Given the description of an element on the screen output the (x, y) to click on. 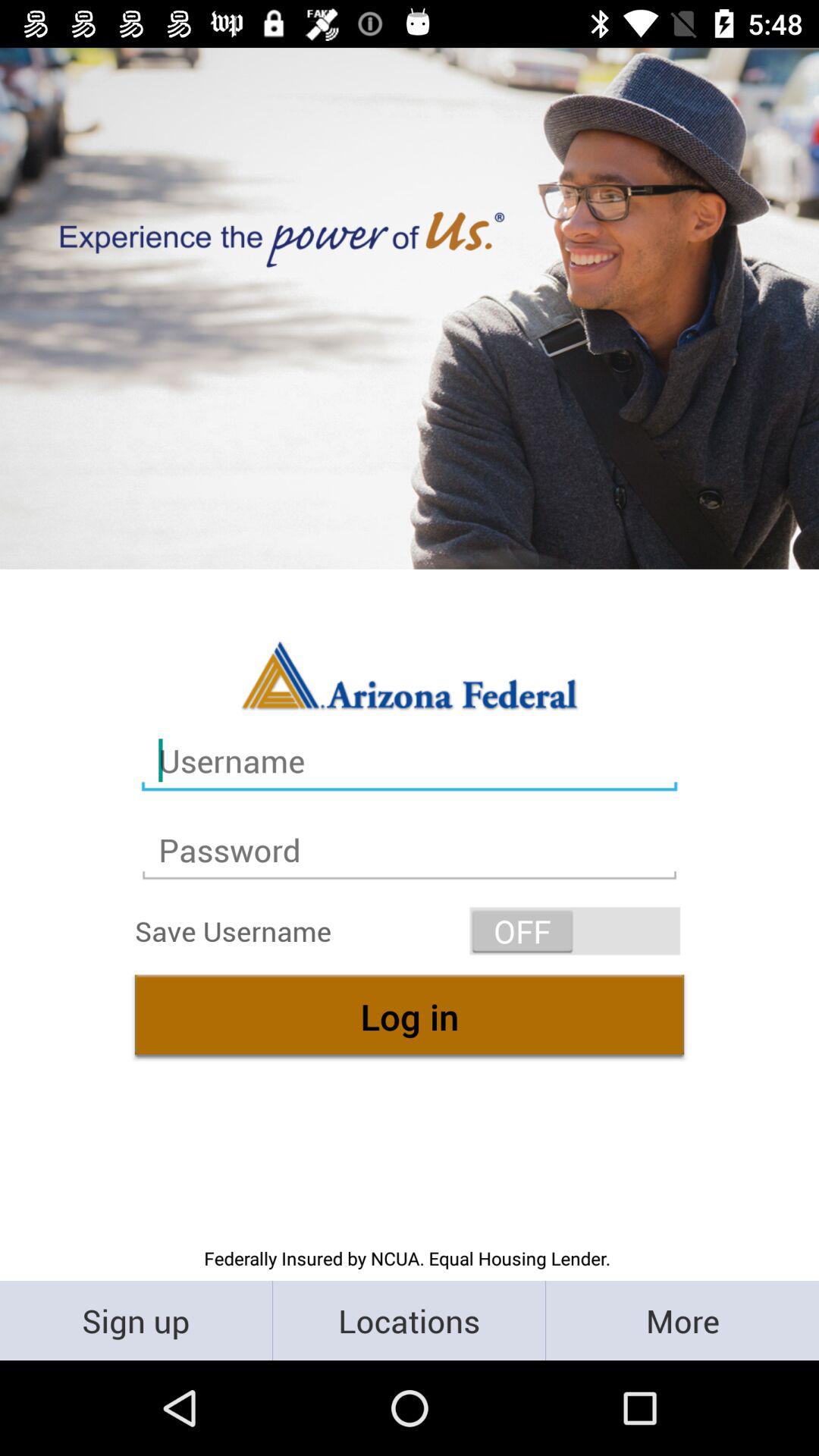
turn off more icon (682, 1320)
